Given the description of an element on the screen output the (x, y) to click on. 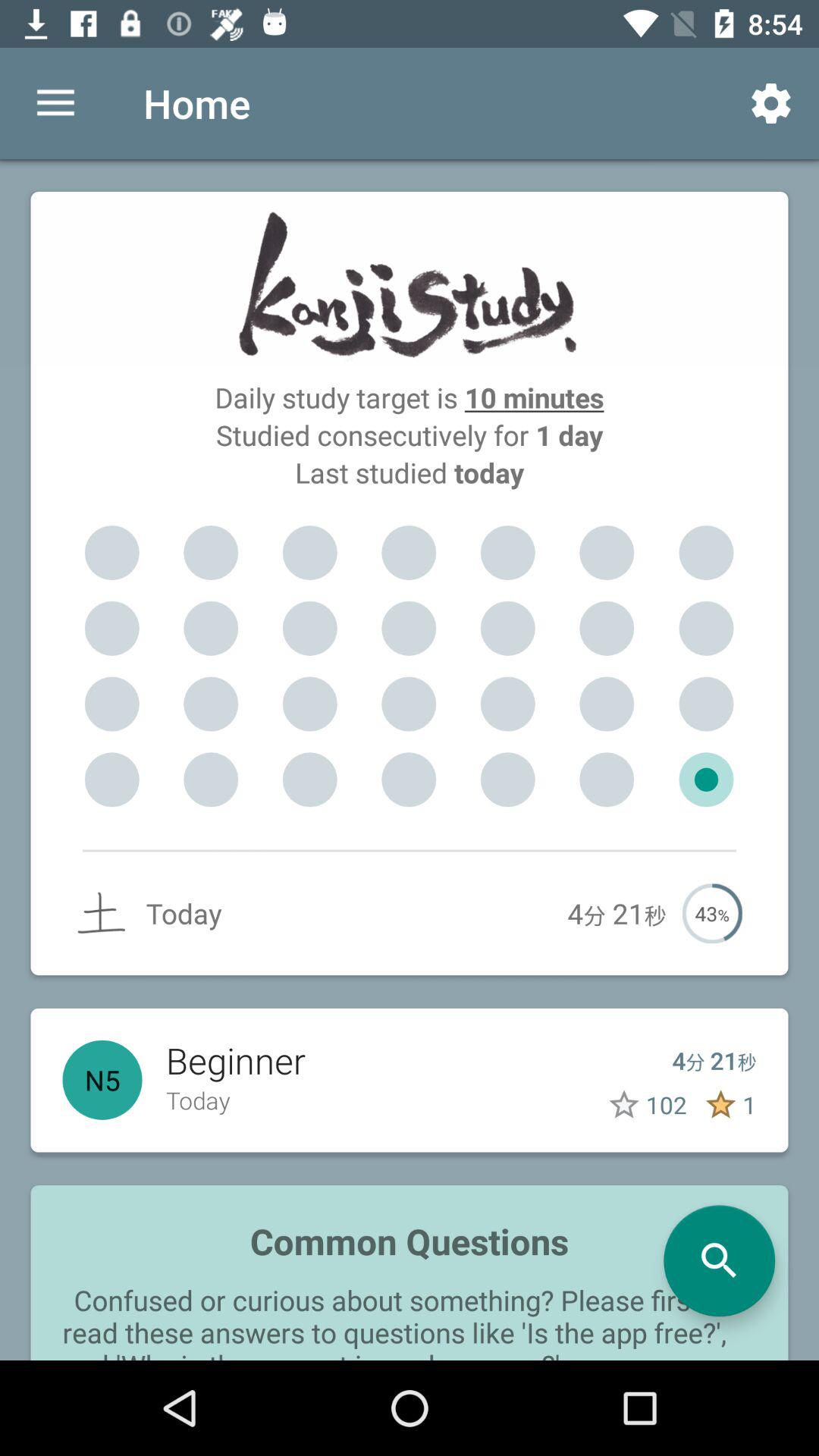
tap icon at the top right corner (771, 103)
